Given the description of an element on the screen output the (x, y) to click on. 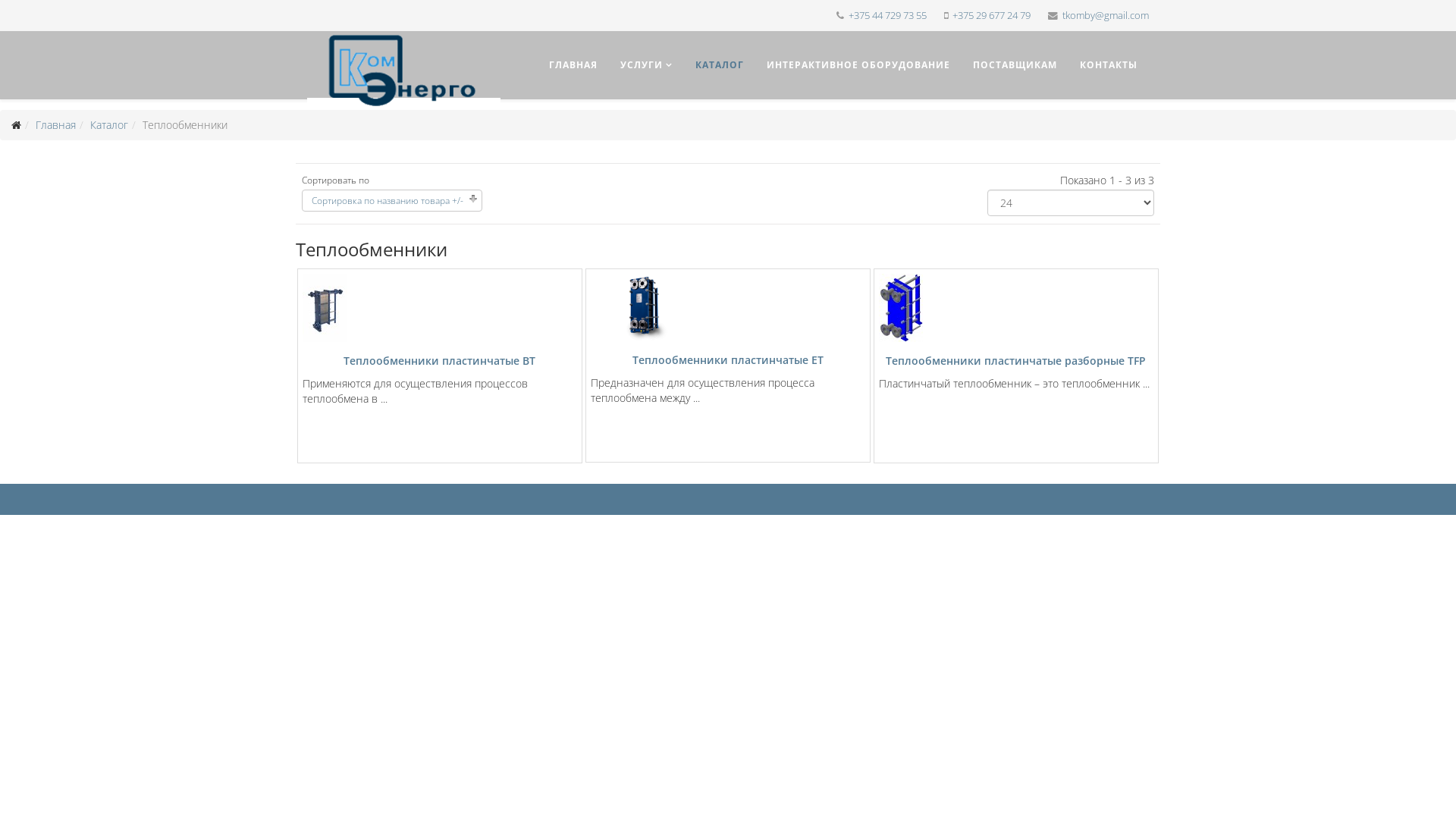
tkomby@gmail.com Element type: text (1105, 15)
+375 29 677 24 79 Element type: text (991, 15)
+375 44 729 73 55 Element type: text (887, 15)
